Given the description of an element on the screen output the (x, y) to click on. 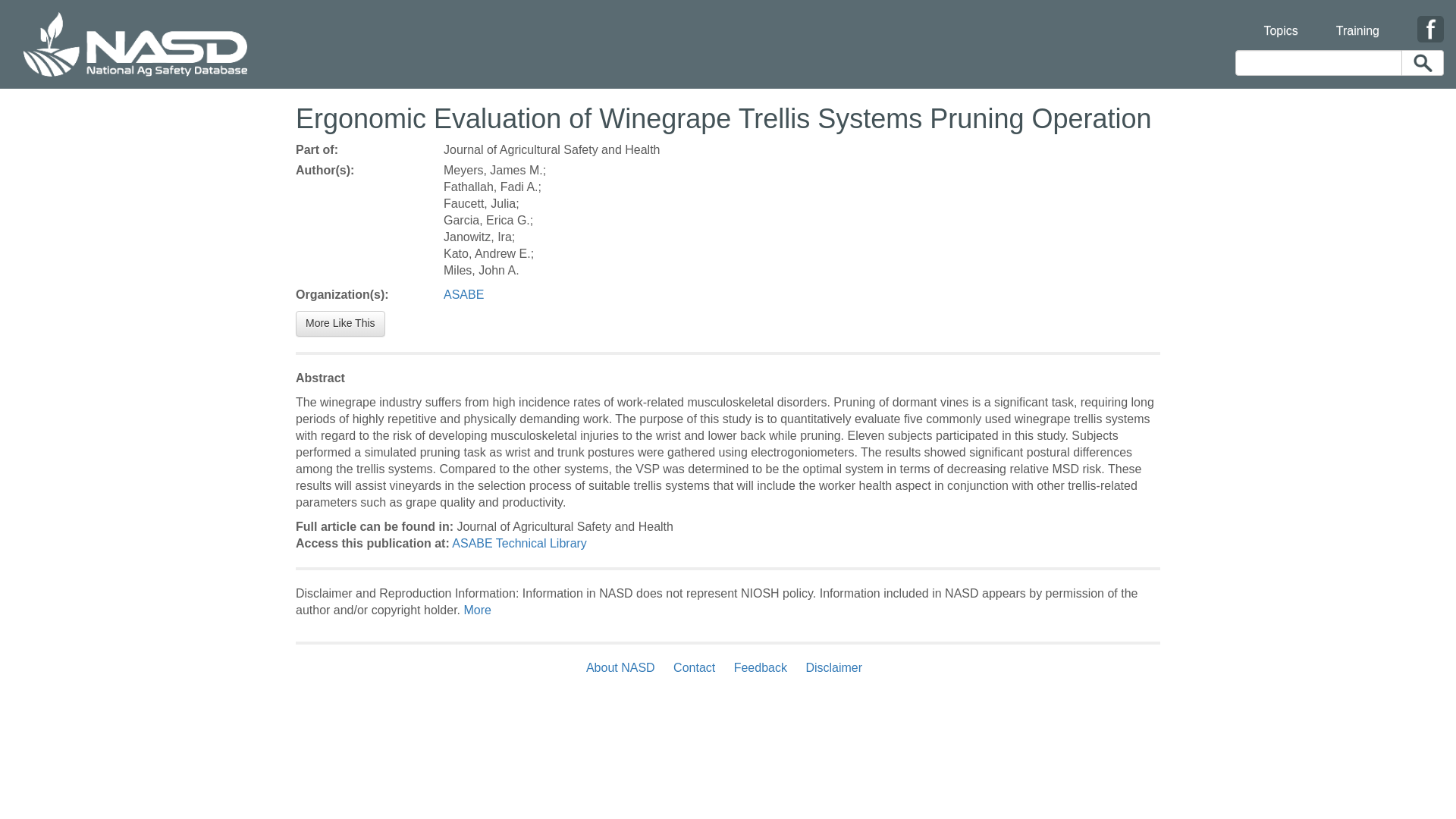
Feedback (760, 667)
ASABE (463, 294)
Contact (693, 667)
Topics (1280, 21)
ASABE Technical Library (518, 543)
Training (1357, 21)
Disclaimer (833, 667)
About NASD (624, 667)
More (476, 609)
More Like This (340, 323)
